Given the description of an element on the screen output the (x, y) to click on. 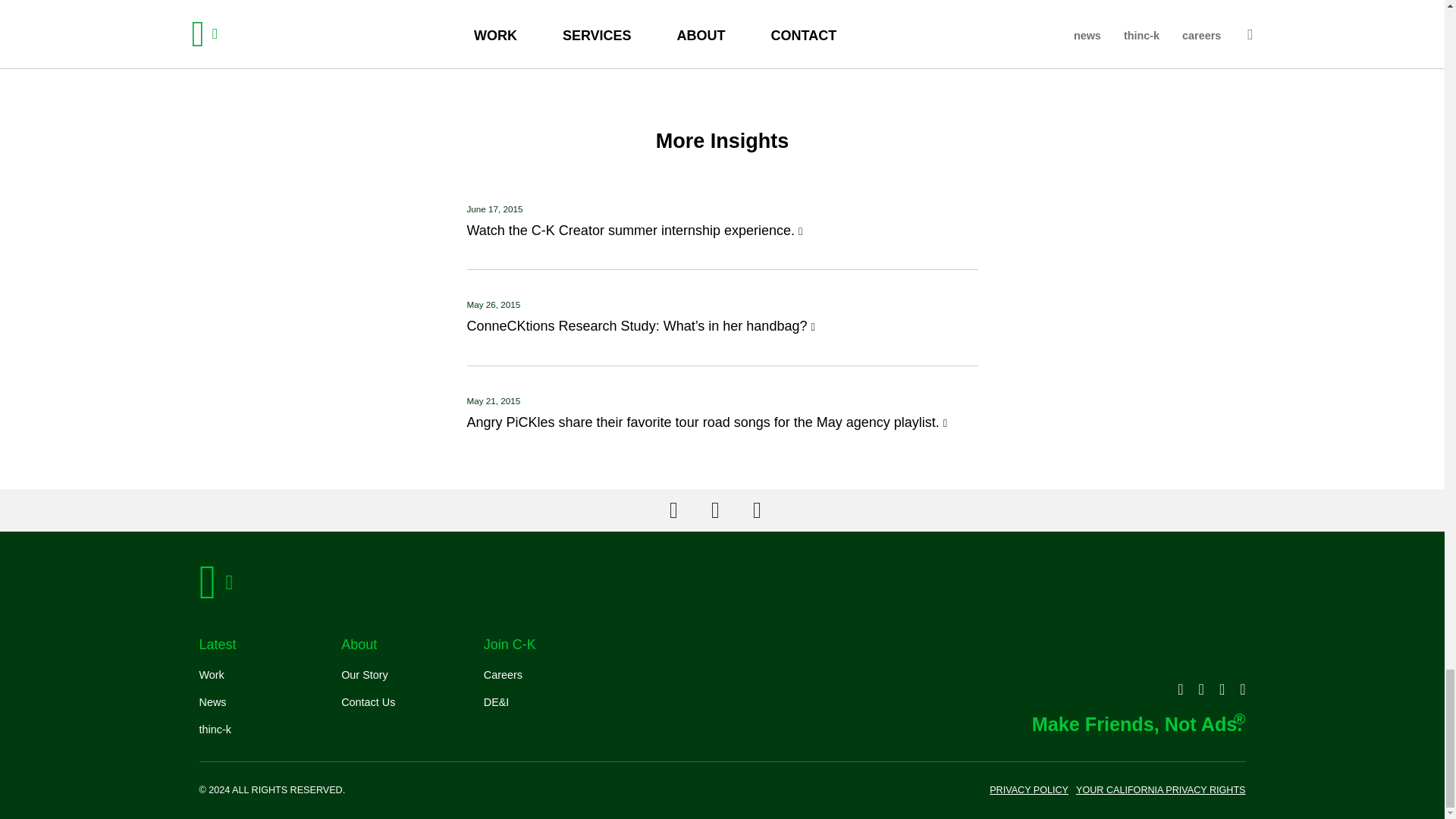
Watch the C-K Creator summer internship experience. (722, 231)
Privacy Policy (211, 674)
About Us (364, 674)
Diversity and Inclusion (496, 702)
Privacy Policy (211, 702)
Cookie Policy (214, 729)
Contact Us (367, 702)
Watch the C-K Creator summer internship experience.  (722, 231)
